Given the description of an element on the screen output the (x, y) to click on. 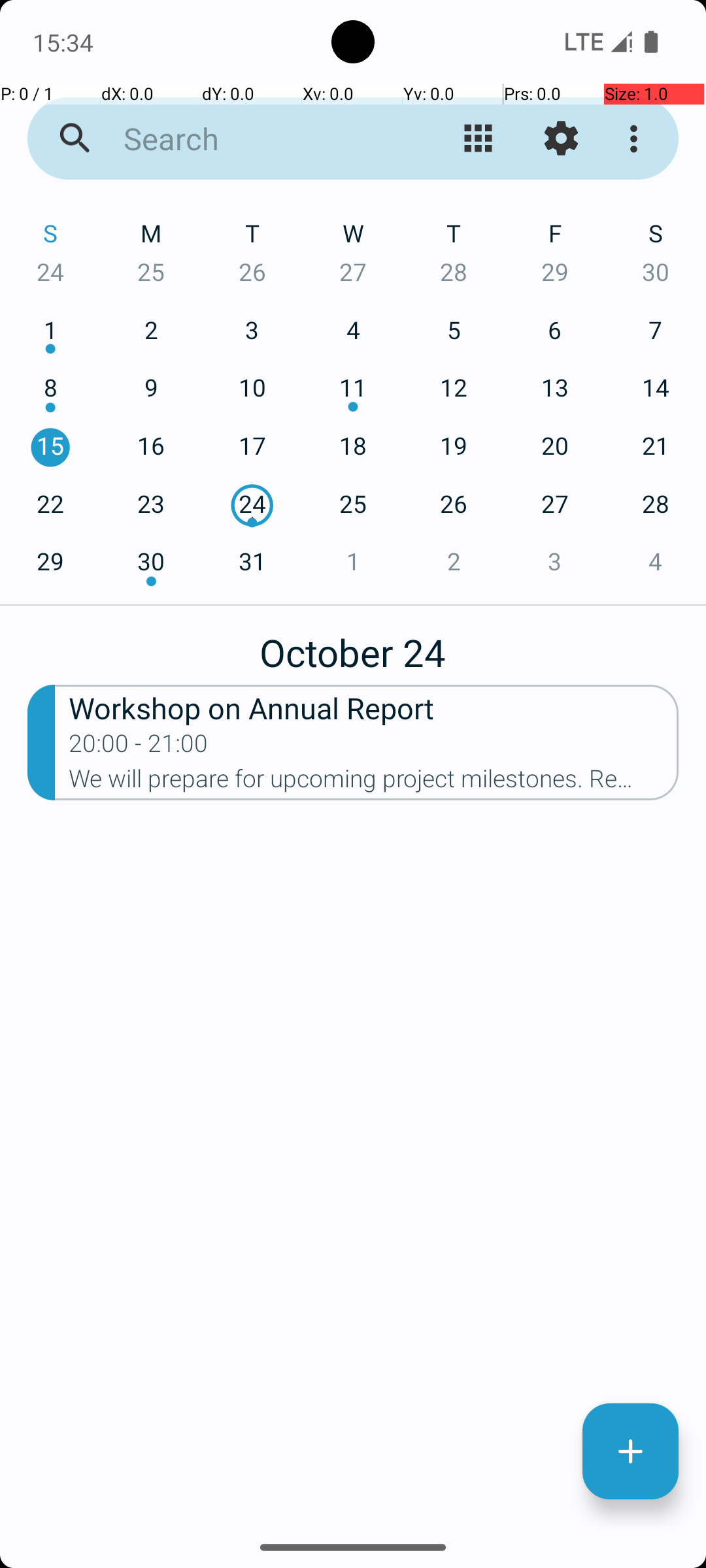
October 24 Element type: android.widget.TextView (352, 644)
20:00 - 21:00 Element type: android.widget.TextView (137, 747)
We will prepare for upcoming project milestones. Remember to confirm attendance. Element type: android.widget.TextView (373, 782)
